Given the description of an element on the screen output the (x, y) to click on. 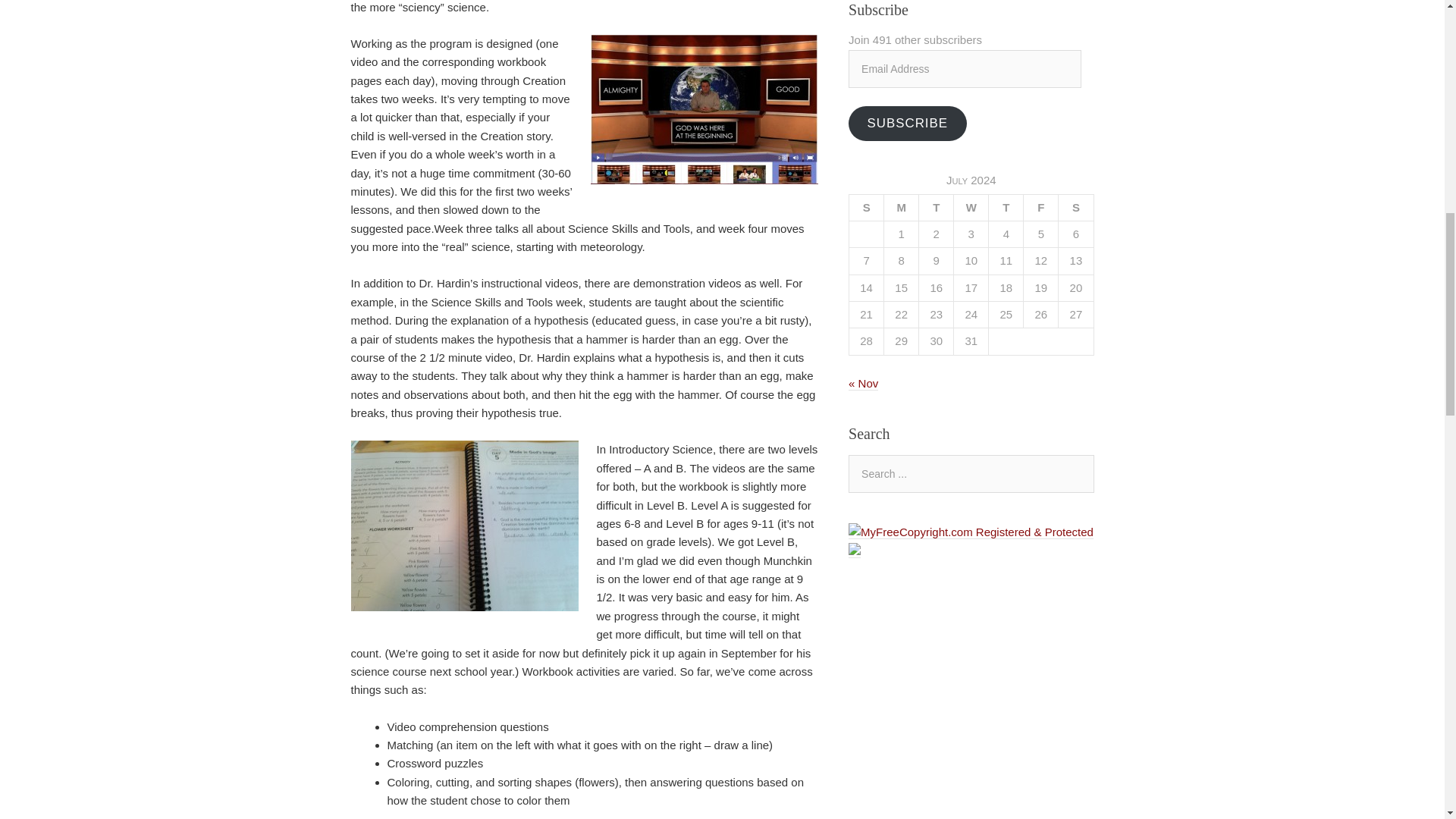
SUBSCRIBE (907, 123)
Sunday (865, 207)
Tuesday (935, 207)
Monday (900, 207)
